Given the description of an element on the screen output the (x, y) to click on. 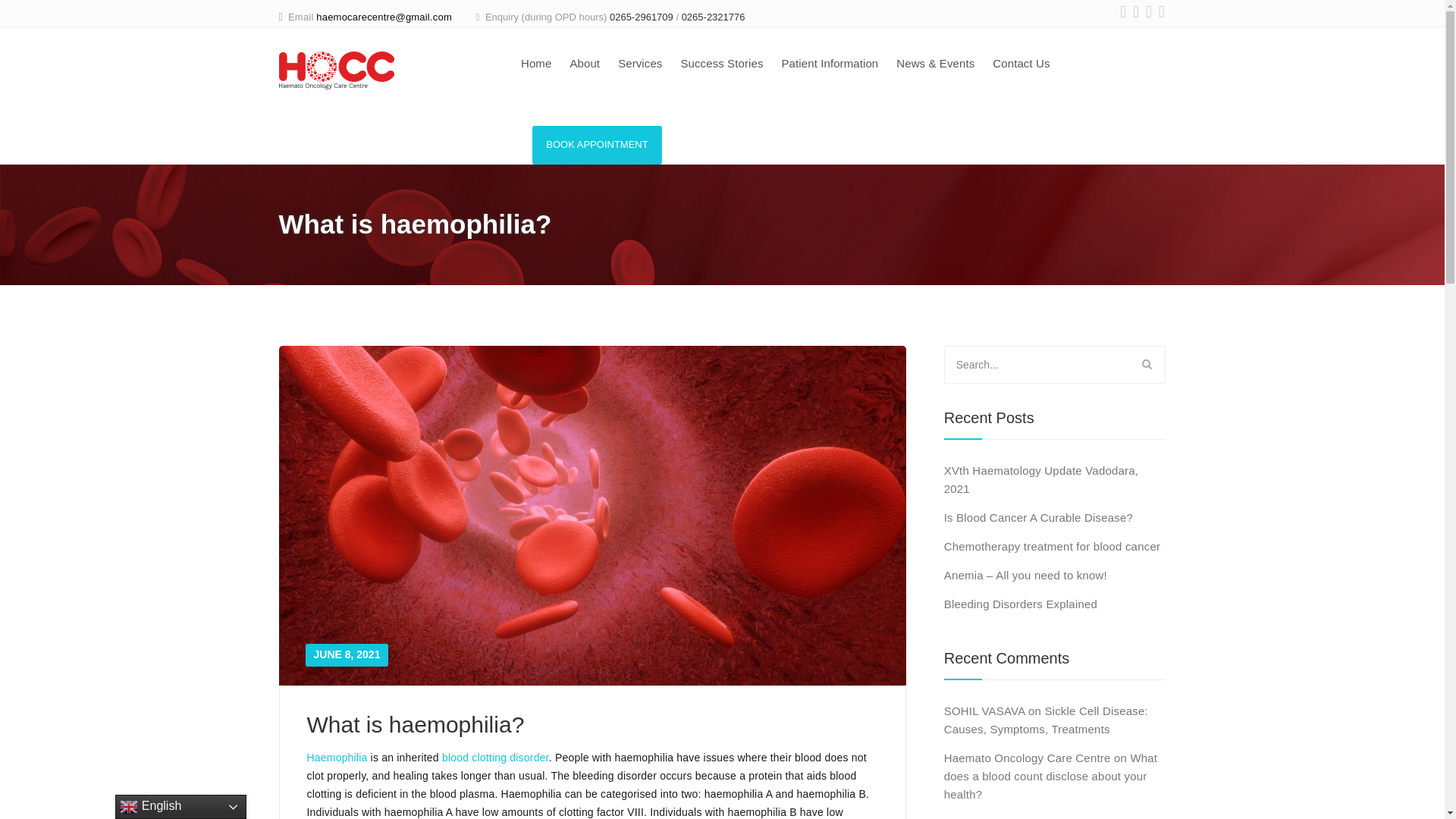
Haemophilia (335, 757)
BOOK APPOINTMENT (597, 145)
Patient Information (828, 65)
0265-2961709 (641, 16)
Contact Us (1021, 65)
0265-2321776 (713, 16)
blood clotting disorder (495, 757)
Success Stories (721, 65)
